Given the description of an element on the screen output the (x, y) to click on. 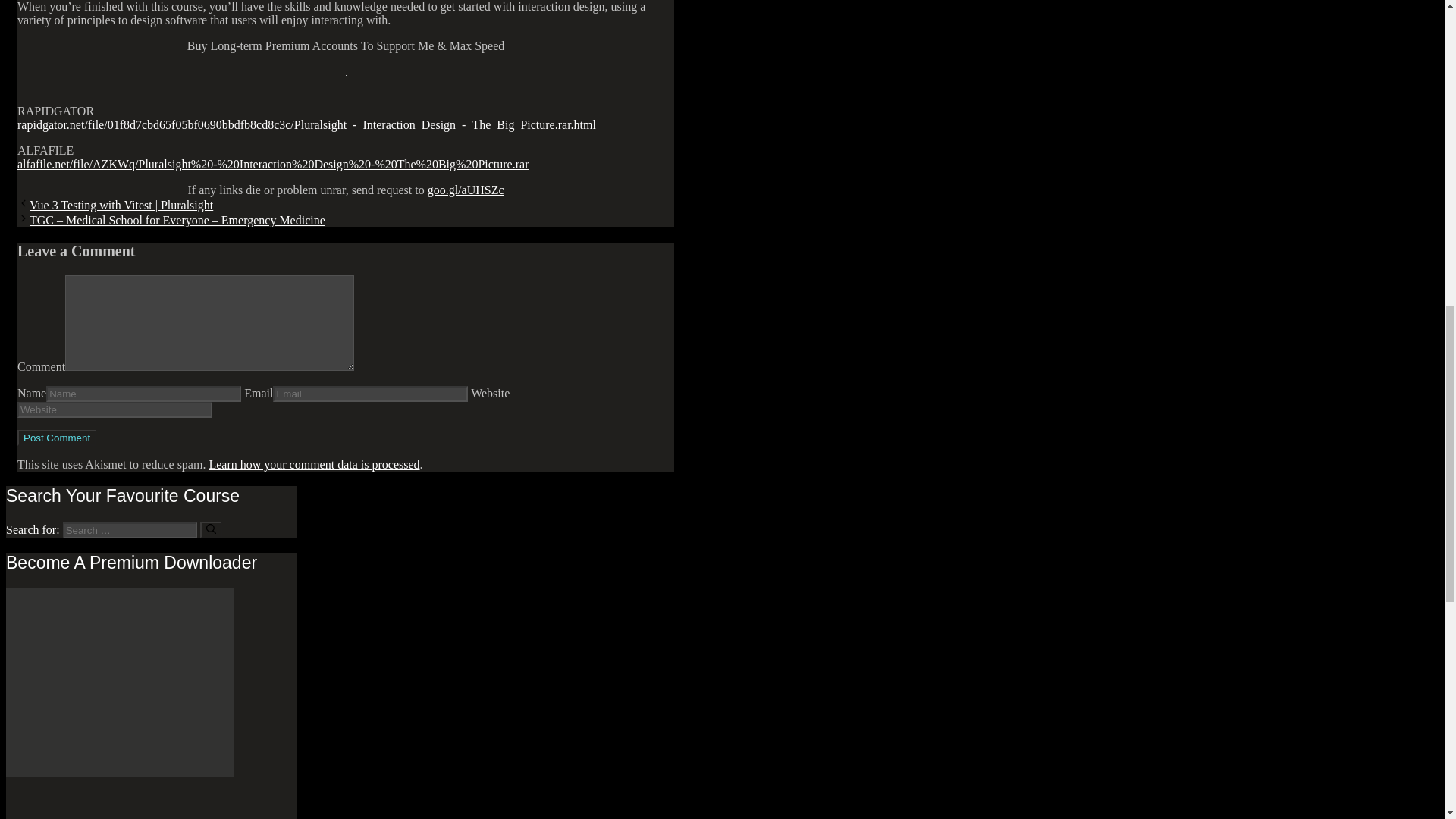
Post Comment (56, 437)
Learn how your comment data is processed (313, 463)
Post Comment (56, 437)
Search for: (129, 530)
